Given the description of an element on the screen output the (x, y) to click on. 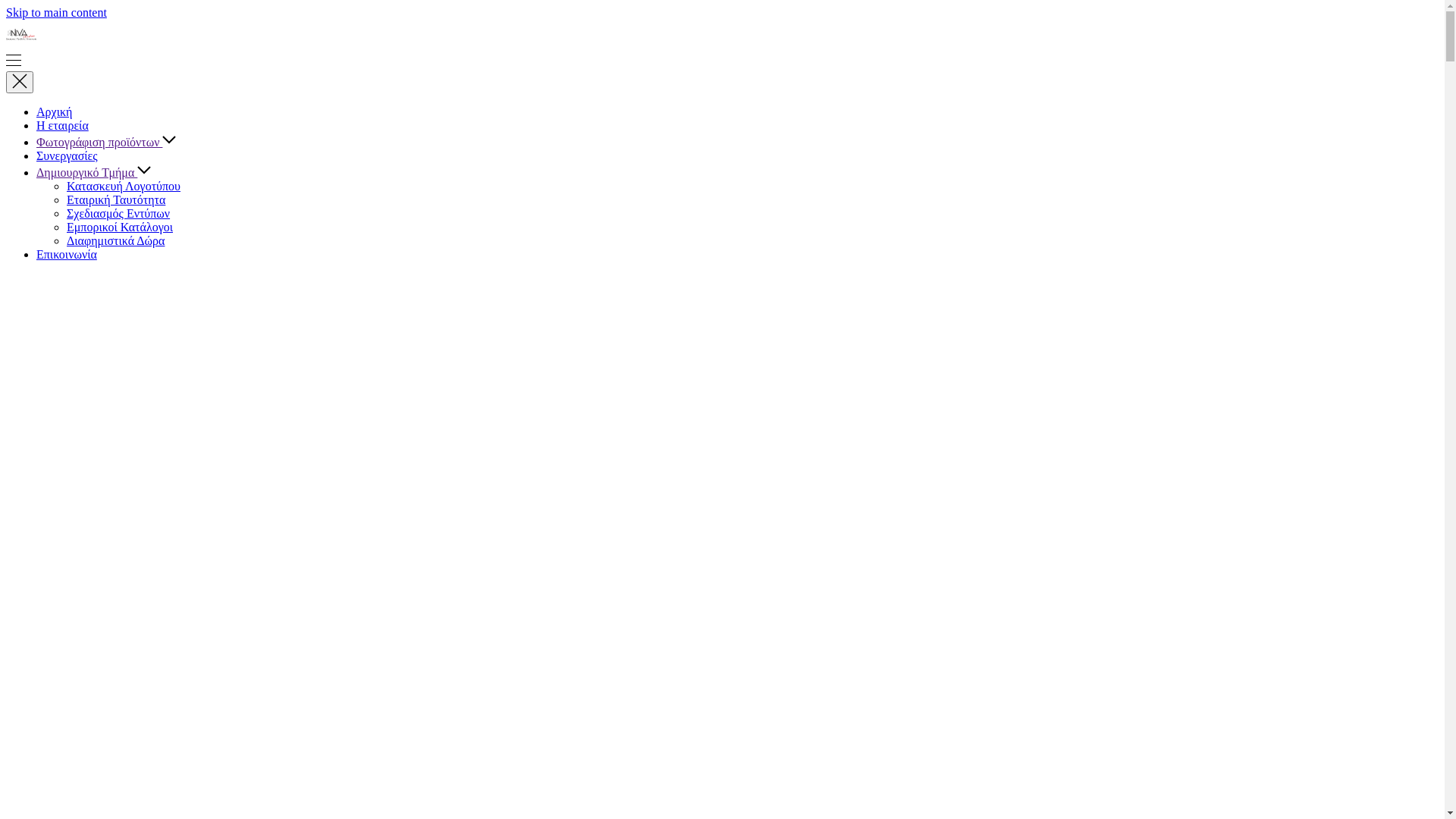
Skip to main content Element type: text (56, 12)
